Given the description of an element on the screen output the (x, y) to click on. 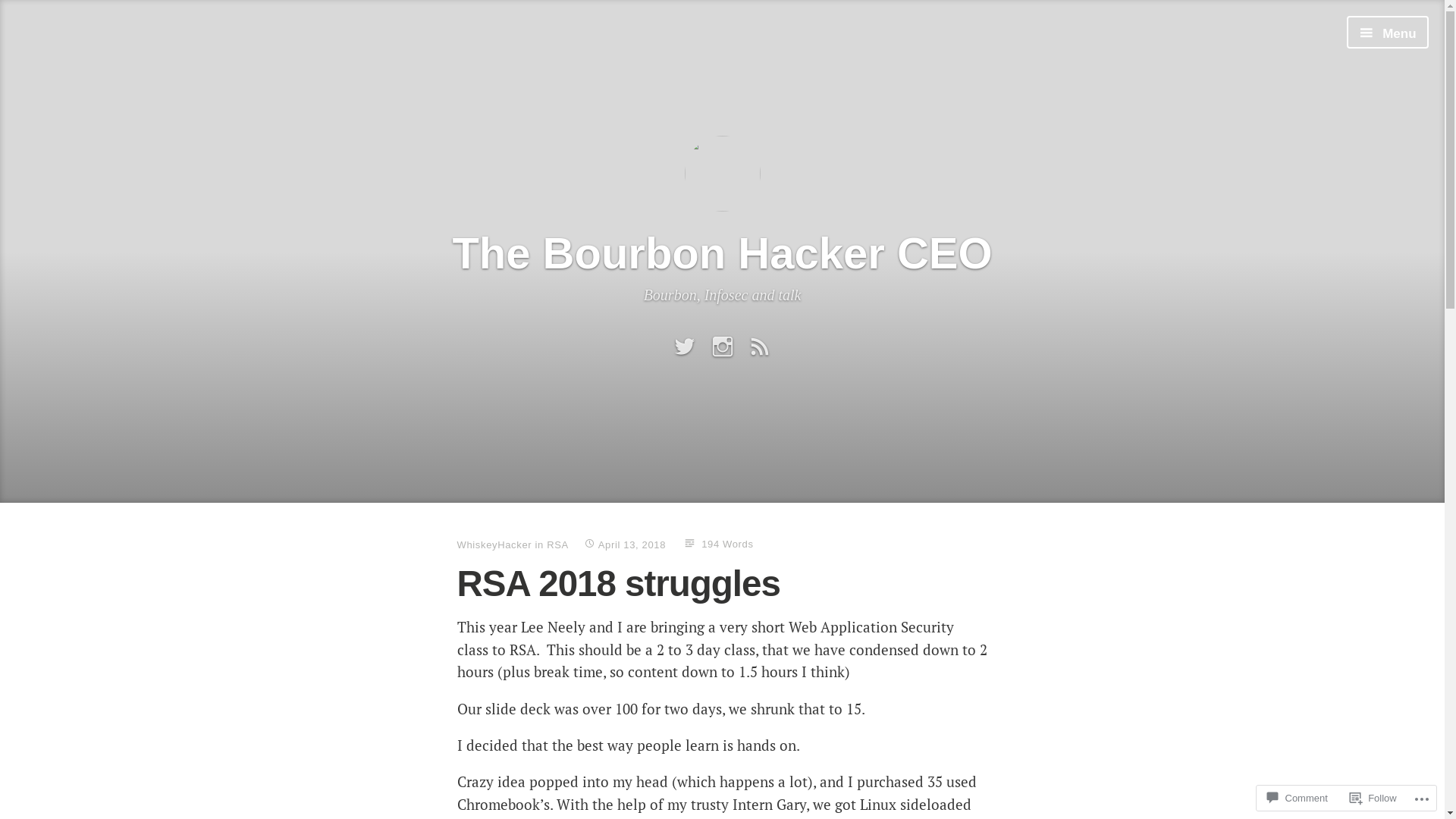
WhiskeyHacker Element type: text (493, 544)
RSA Element type: text (557, 544)
Menu Element type: text (1387, 31)
The Bourbon Hacker CEO Element type: text (721, 251)
Comment Element type: text (1296, 797)
Follow Element type: text (1372, 797)
